Given the description of an element on the screen output the (x, y) to click on. 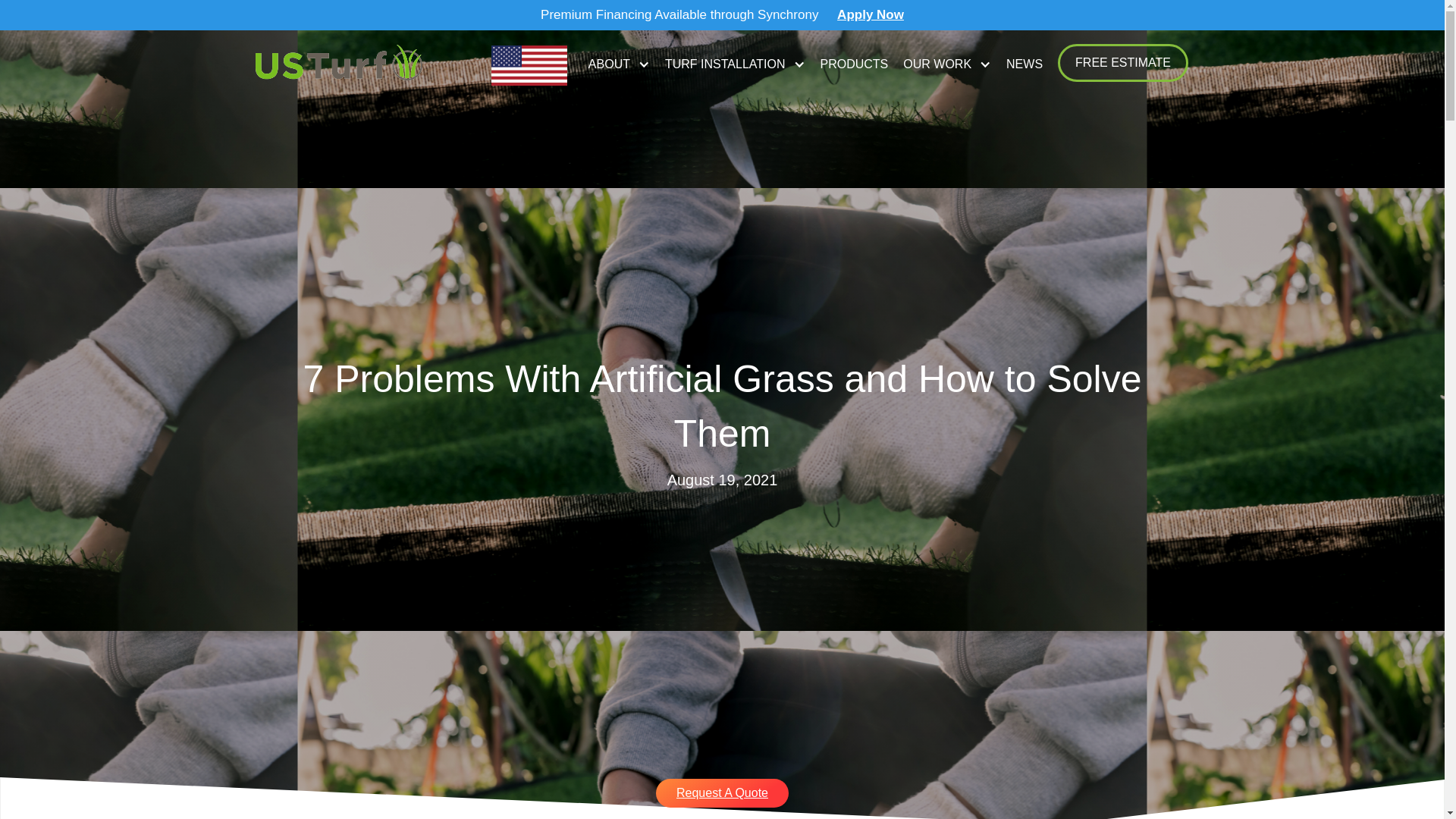
NEWS (1023, 63)
FREE ESTIMATE (1123, 62)
Apply Now (870, 14)
PRODUCTS (854, 63)
